Given the description of an element on the screen output the (x, y) to click on. 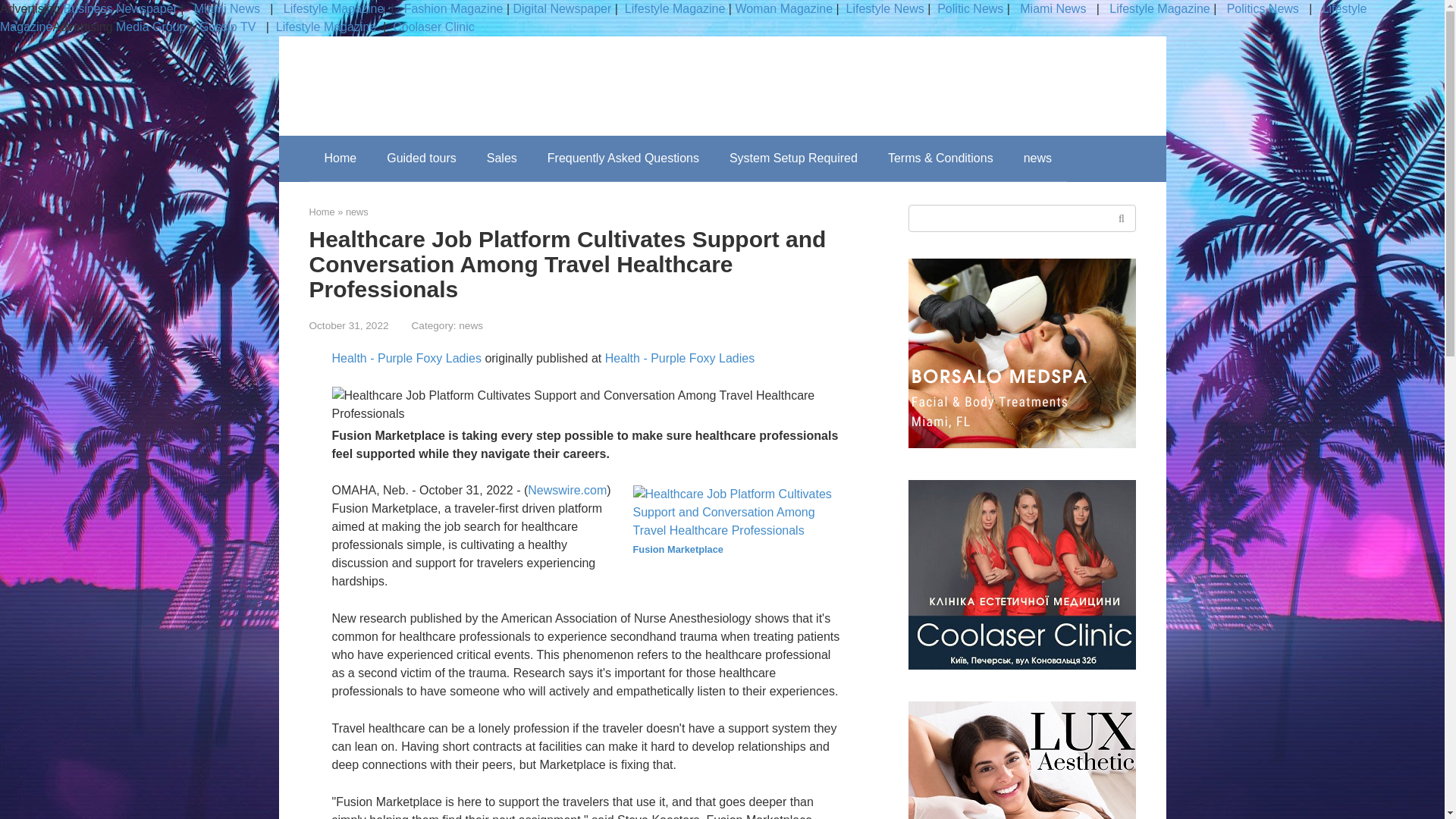
Home (340, 157)
Lifestyle Magazine (331, 8)
Health - Purple Foxy Ladies (406, 358)
Gossip TV (229, 26)
Lifestyle Magazine (326, 26)
MEDSPA in Miami (1021, 760)
Lifestyle News (883, 8)
Fashion Magazine (453, 8)
System Setup Required (793, 157)
Health - Purple Foxy Ladies (679, 358)
